Given the description of an element on the screen output the (x, y) to click on. 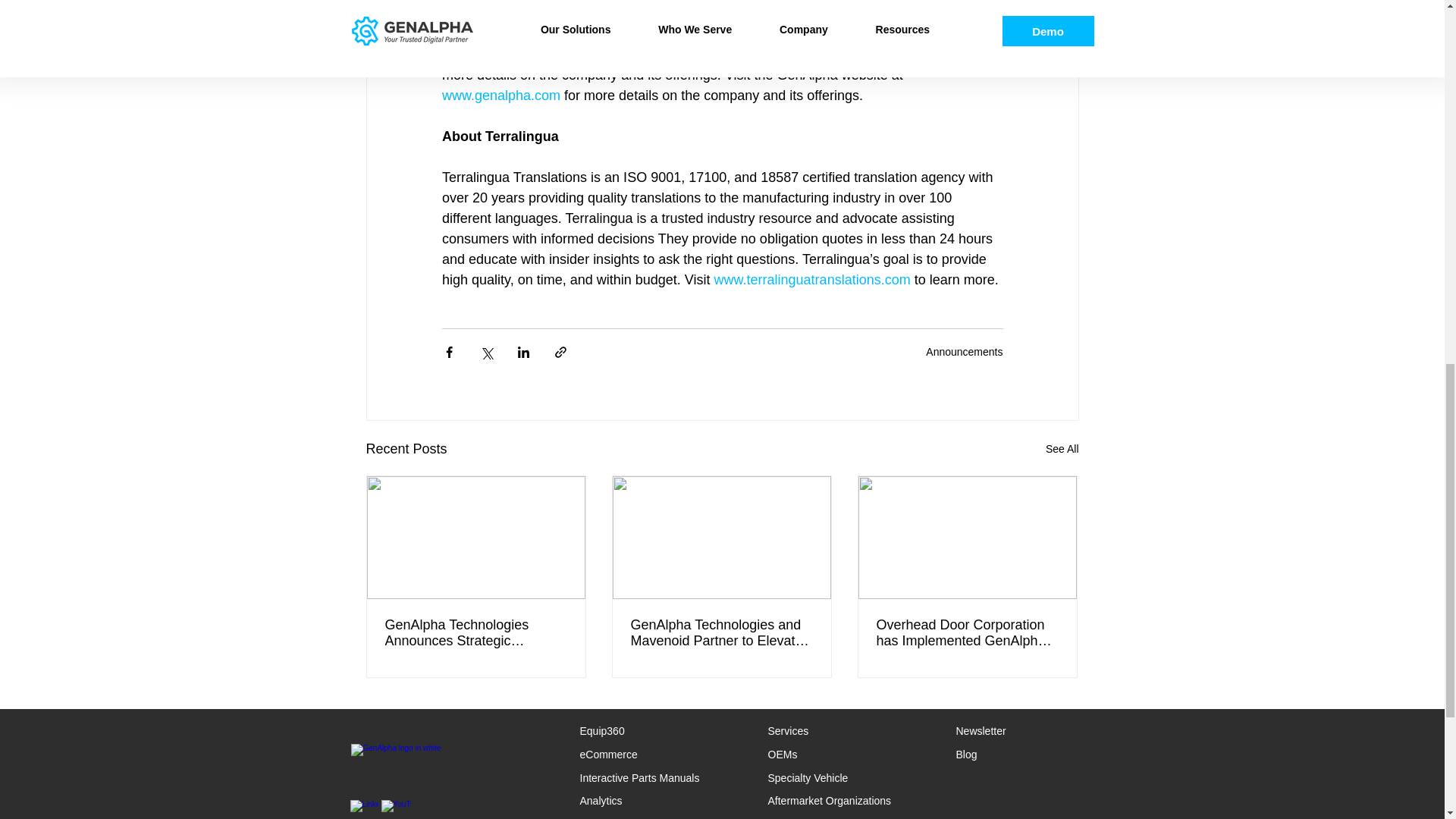
www.genalpha.com (500, 95)
www.terralinguatranslations.com (811, 279)
